Given the description of an element on the screen output the (x, y) to click on. 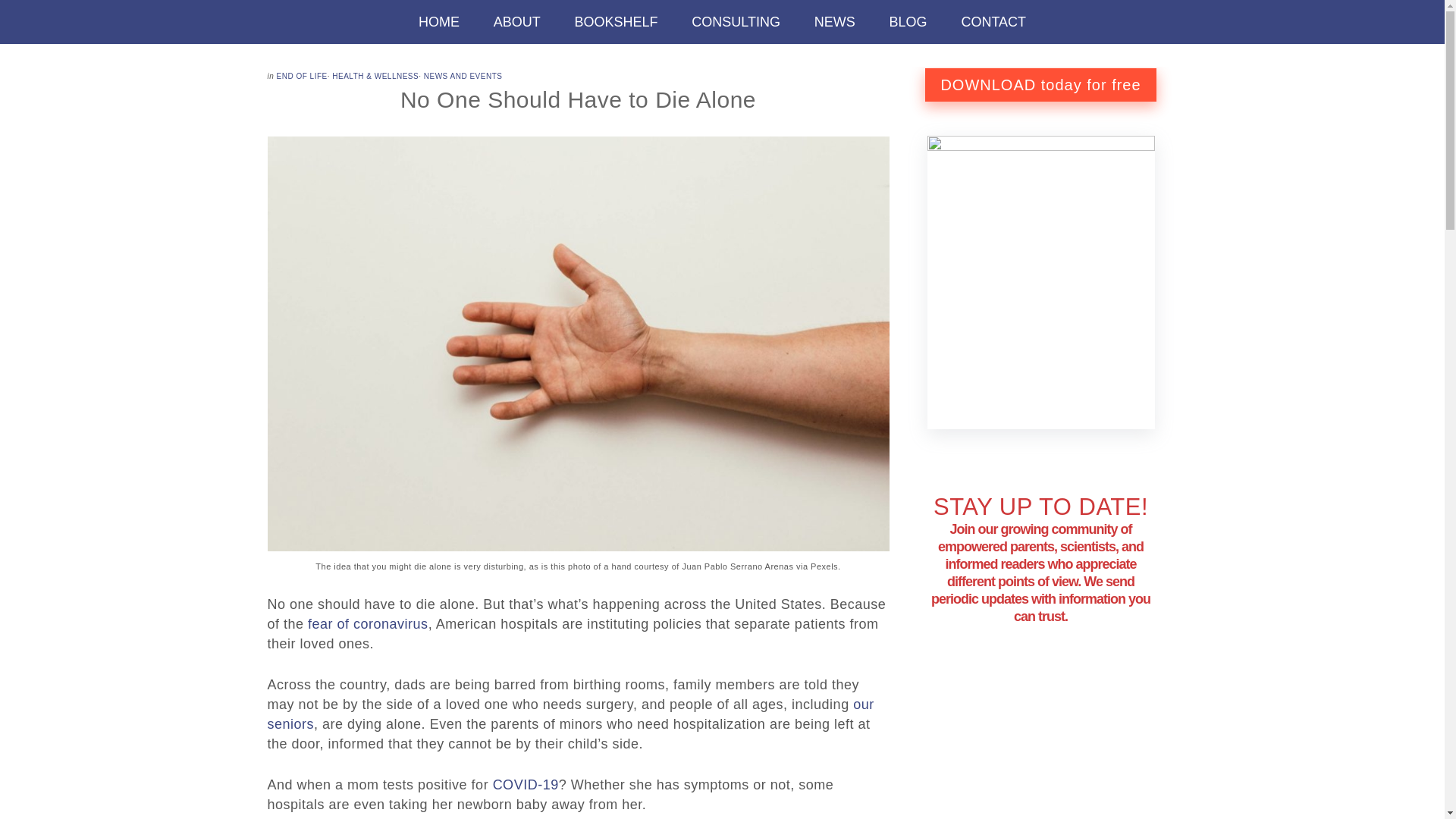
CONTACT (992, 22)
END OF LIFE (301, 76)
HOME (438, 22)
NEWS (834, 22)
ABOUT (517, 22)
Contact Jennifer (992, 22)
our seniors (569, 714)
CONSULTING (735, 22)
DOWNLOAD today for free (1040, 84)
fear of coronavirus (367, 623)
COVID-19 (526, 784)
BLOG (908, 22)
BOOKSHELF (615, 22)
NEWS AND EVENTS (462, 76)
